Given the description of an element on the screen output the (x, y) to click on. 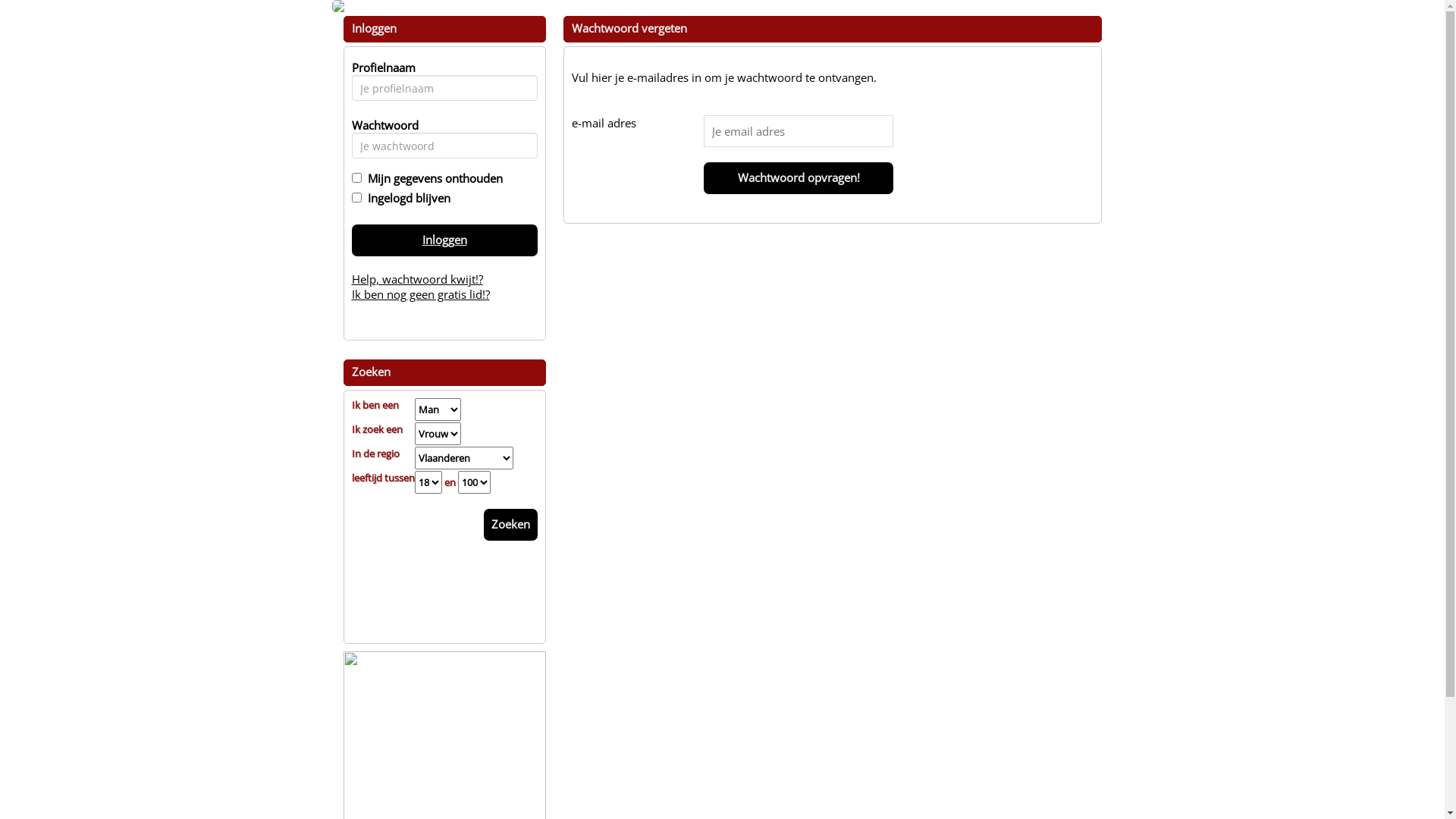
Help, wachtwoord kwijt!? Element type: text (417, 278)
Zoeken Element type: text (510, 524)
Wachtwoord opvragen! Element type: text (798, 178)
Ik ben nog geen gratis lid!? Element type: text (420, 293)
Inloggen Element type: text (444, 240)
